Given the description of an element on the screen output the (x, y) to click on. 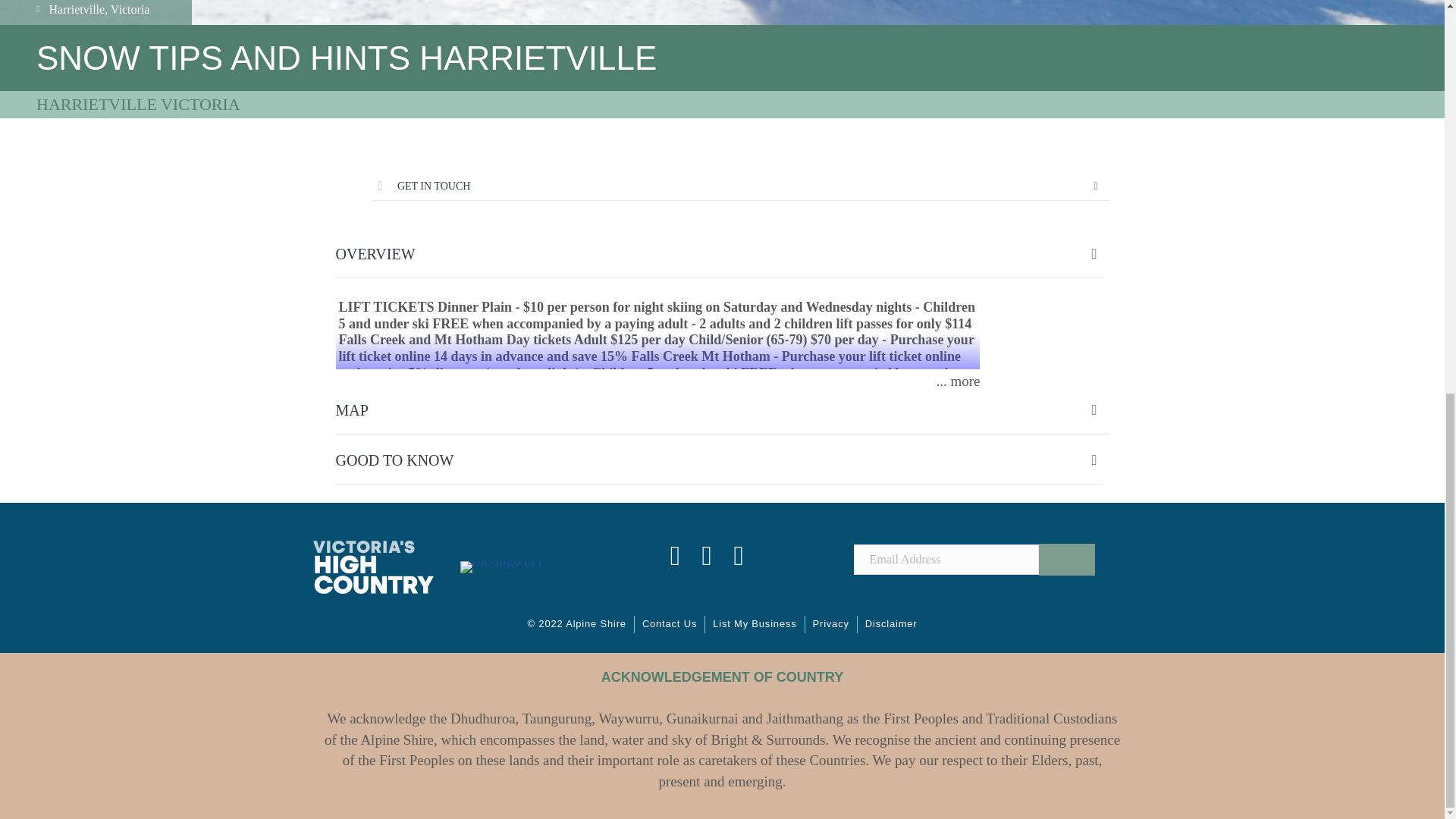
Privacy (831, 624)
List My Business (753, 624)
OVERVIEW (721, 254)
Harrietville, Victoria (96, 12)
GOOD TO KNOW (721, 460)
Contact Us (669, 624)
Harrietville, Victoria (96, 7)
GET IN TOUCH (739, 186)
Disclaimer (890, 624)
MAP (721, 410)
